Given the description of an element on the screen output the (x, y) to click on. 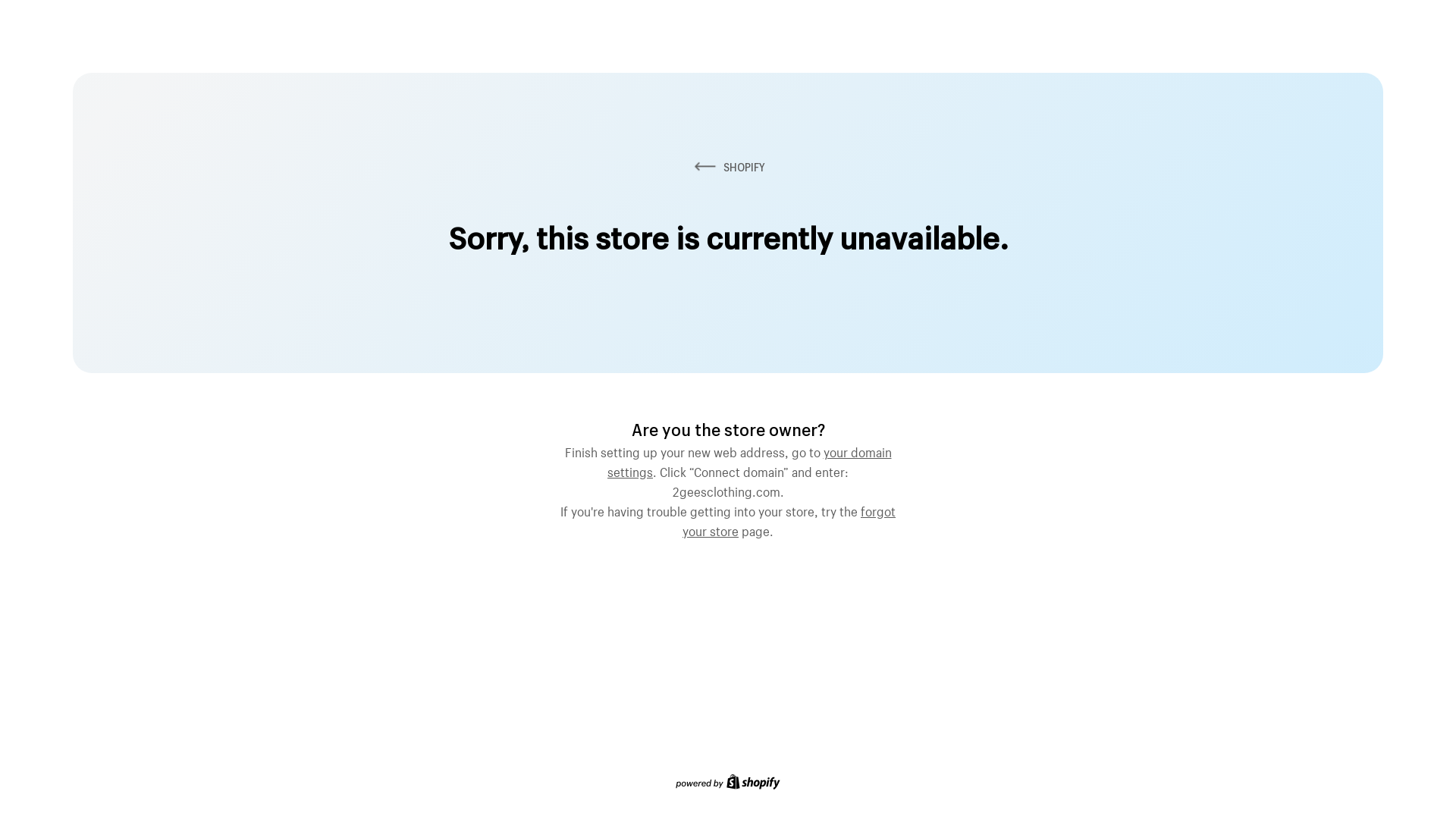
SHOPIFY Element type: text (727, 167)
forgot your store Element type: text (788, 519)
your domain settings Element type: text (749, 460)
